Given the description of an element on the screen output the (x, y) to click on. 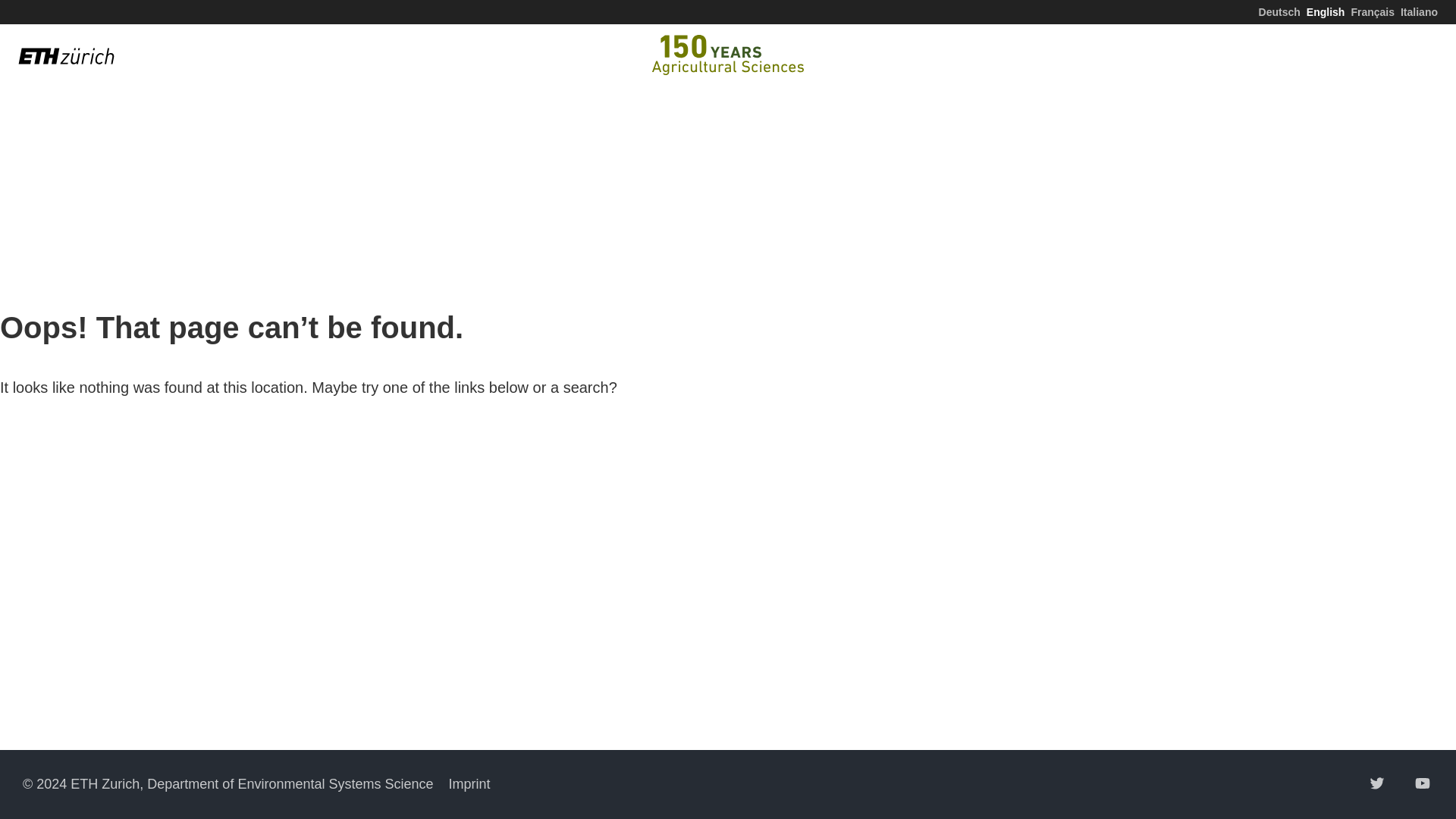
Deutsch (1279, 11)
French (1372, 11)
Twitter (1377, 782)
Artboard Copy 2 (727, 55)
Imprint (469, 783)
Italian (1419, 11)
Youtube (1422, 782)
German (1279, 11)
Italiano (1419, 11)
Guestbook (1339, 55)
